Given the description of an element on the screen output the (x, y) to click on. 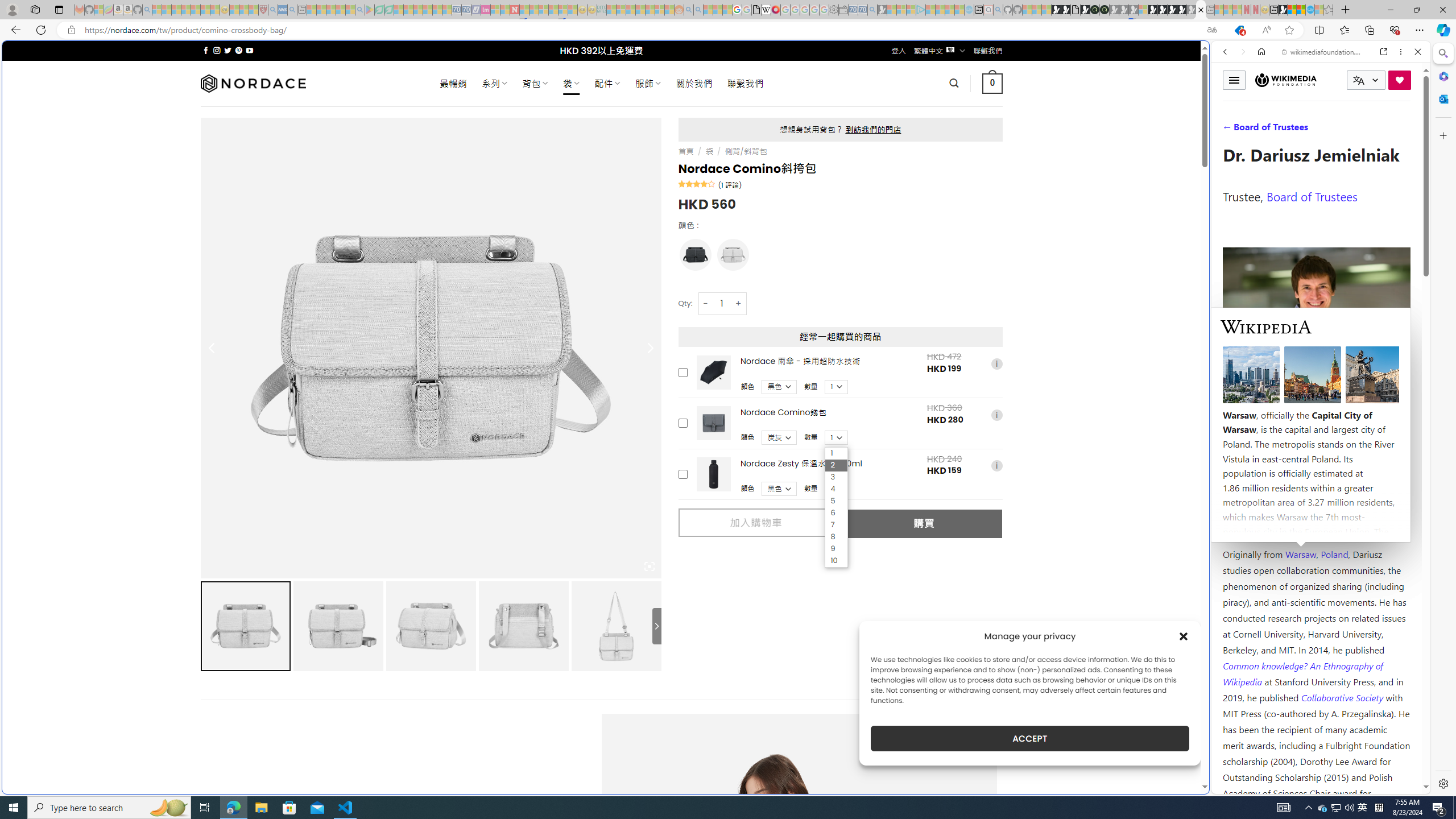
Target page - Wikipedia (766, 9)
